Given the description of an element on the screen output the (x, y) to click on. 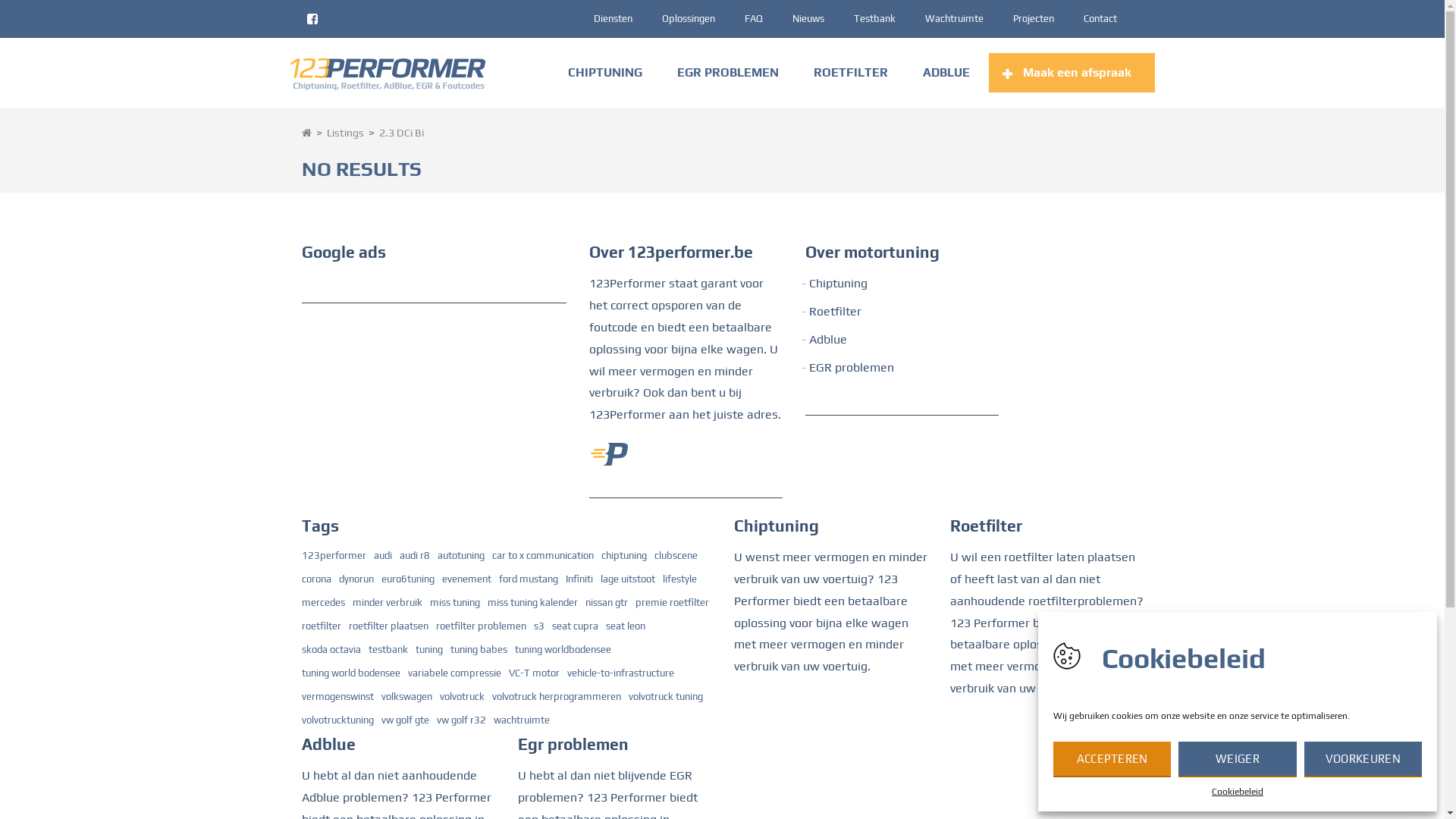
Wachtruimte Element type: text (954, 18)
dynorun Element type: text (355, 579)
Testbank Element type: text (874, 18)
vermogenswinst Element type: text (337, 696)
testbank Element type: text (387, 649)
premie roetfilter Element type: text (672, 602)
variabele compressie Element type: text (454, 673)
Adblue Element type: text (828, 339)
tuning babes Element type: text (478, 649)
volvotruck herprogrammeren Element type: text (555, 696)
Maak een afspraak Element type: text (1071, 72)
audi r8 Element type: text (413, 555)
VOORKEUREN Element type: text (1362, 758)
tuning Element type: text (428, 649)
volvotruck Element type: text (461, 696)
Infiniti Element type: text (579, 579)
123performer Element type: text (333, 555)
lage uitstoot Element type: text (627, 579)
EGR PROBLEMEN Element type: text (727, 72)
ford mustang Element type: text (528, 579)
Oplossingen Element type: text (687, 18)
miss tuning Element type: text (454, 602)
miss tuning kalender Element type: text (531, 602)
roetfilter Element type: text (321, 626)
tuning world bodensee Element type: text (350, 673)
WEIGER Element type: text (1236, 758)
lifestyle Element type: text (679, 579)
VC-T motor Element type: text (533, 673)
corona Element type: text (316, 579)
Chiptuning Element type: text (838, 283)
Ga naar de Garage Bart Rogge - 123 Performer. Element type: hover (306, 132)
vehicle-to-infrastructure Element type: text (620, 673)
Nieuws Element type: text (807, 18)
volvotruck tuning Element type: text (664, 696)
wachtruimte Element type: text (520, 720)
mercedes Element type: text (323, 602)
evenement Element type: text (465, 579)
Projecten Element type: text (1033, 18)
autotuning Element type: text (459, 555)
s3 Element type: text (538, 626)
volvotrucktuning Element type: text (337, 720)
FAQ Element type: text (753, 18)
roetfilter problemen Element type: text (480, 626)
car to x communication Element type: text (542, 555)
minder verbruik Element type: text (386, 602)
vw golf gte Element type: text (404, 720)
ROETFILTER Element type: text (850, 72)
vw golf r32 Element type: text (461, 720)
EGR problemen Element type: text (851, 367)
Cookiebeleid Element type: text (1237, 791)
CHIPTUNING Element type: text (605, 72)
ADBLUE Element type: text (945, 72)
seat cupra Element type: text (575, 626)
clubscene Element type: text (674, 555)
Contact Element type: text (1099, 18)
euro6tuning Element type: text (406, 579)
volkswagen Element type: text (405, 696)
Diensten Element type: text (612, 18)
tuning worldbodensee Element type: text (562, 649)
audi Element type: text (382, 555)
skoda octavia Element type: text (330, 649)
roetfilter plaatsen Element type: text (388, 626)
nissan gtr Element type: text (606, 602)
Roetfilter Element type: text (835, 311)
Listings Element type: text (344, 132)
ACCEPTEREN Element type: text (1111, 758)
seat leon Element type: text (624, 626)
chiptuning Element type: text (623, 555)
